Given the description of an element on the screen output the (x, y) to click on. 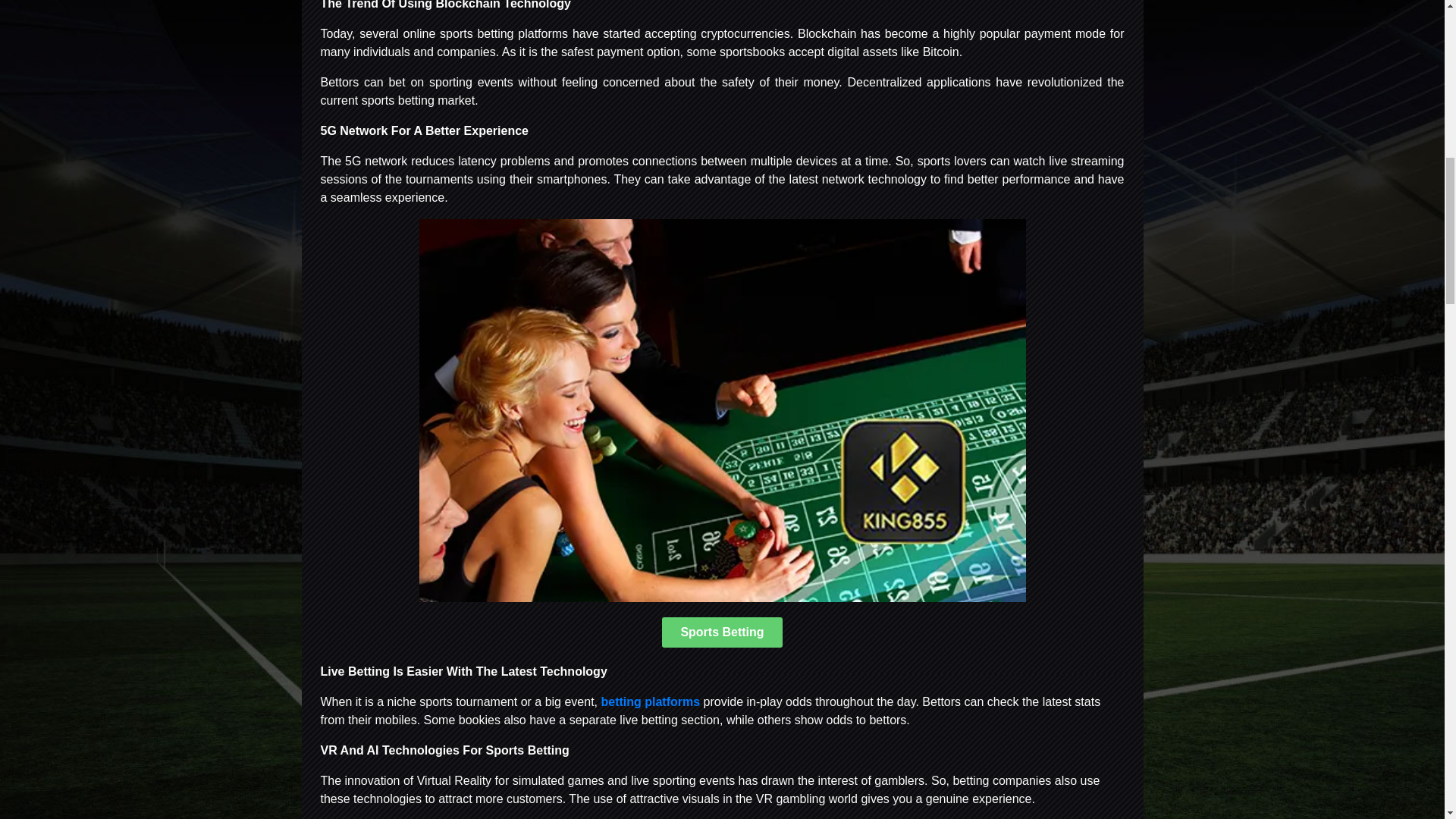
betting platforms (649, 701)
Sports Betting (721, 632)
